Given the description of an element on the screen output the (x, y) to click on. 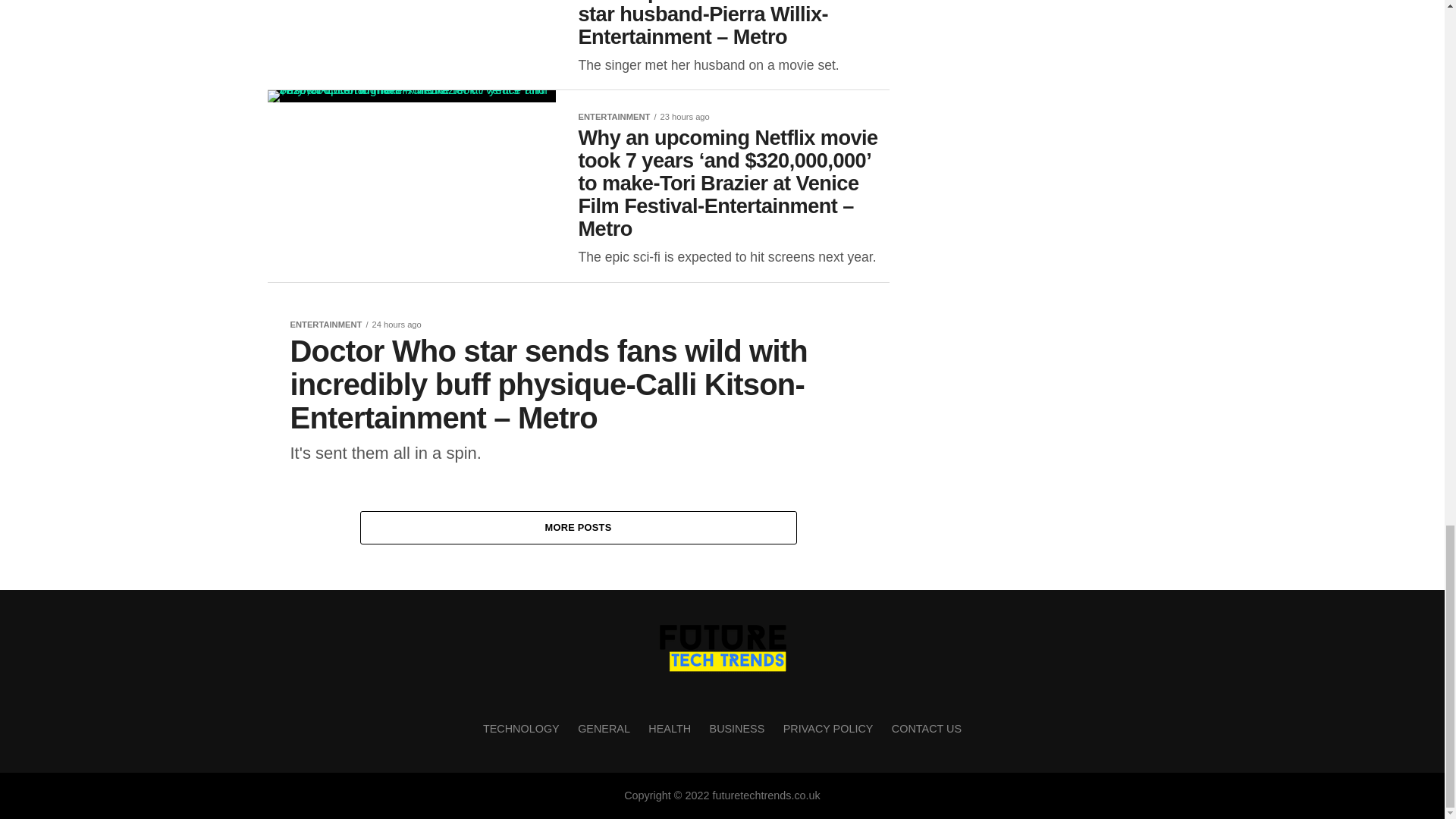
HEALTH (668, 728)
BUSINESS (737, 728)
TECHNOLOGY (521, 728)
MORE POSTS (577, 528)
GENERAL (604, 728)
